Given the description of an element on the screen output the (x, y) to click on. 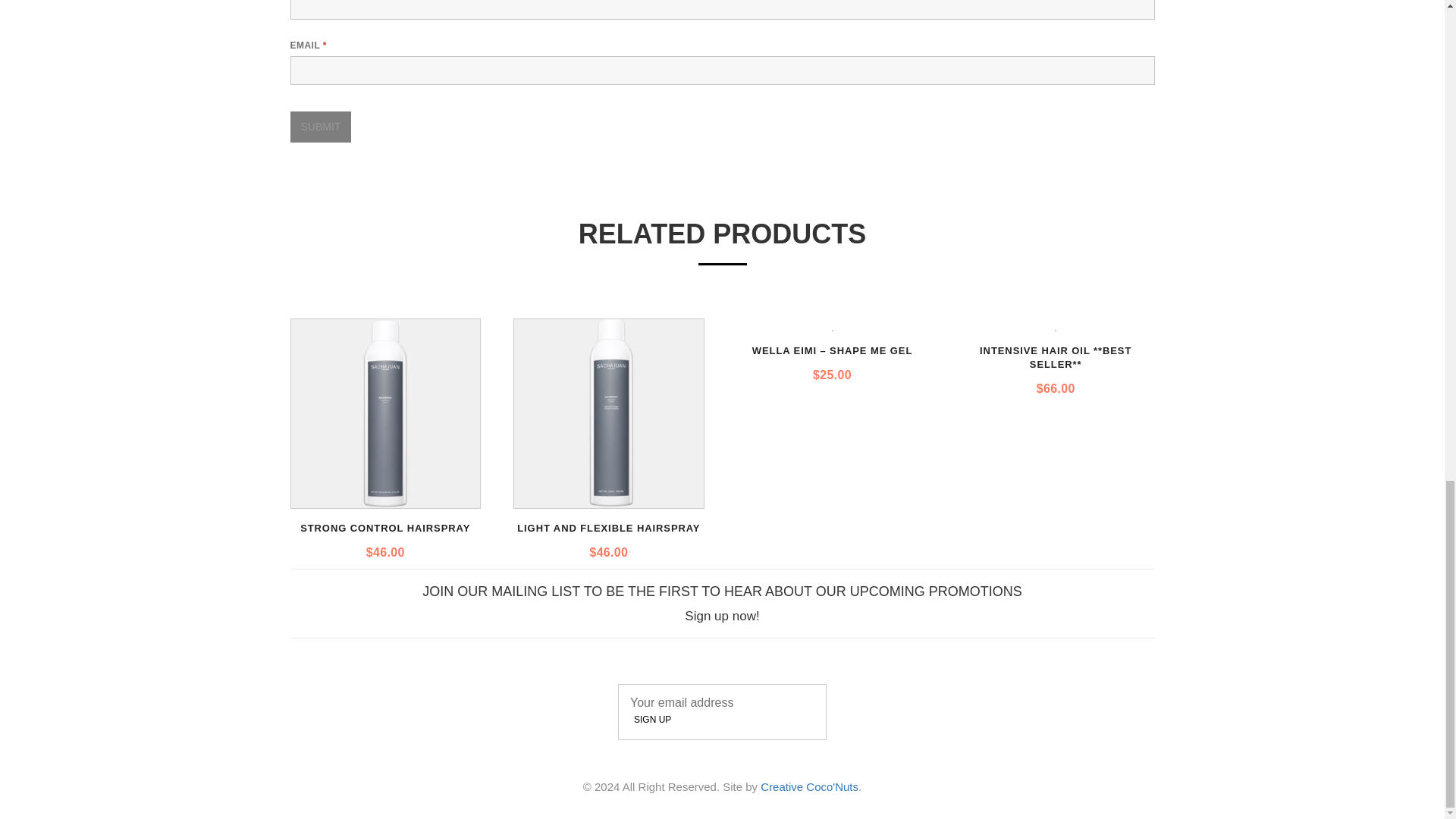
Sign up (652, 719)
Creative Coco'Nuts (809, 786)
Submit (319, 126)
Sign up (652, 719)
Submit (319, 126)
